Given the description of an element on the screen output the (x, y) to click on. 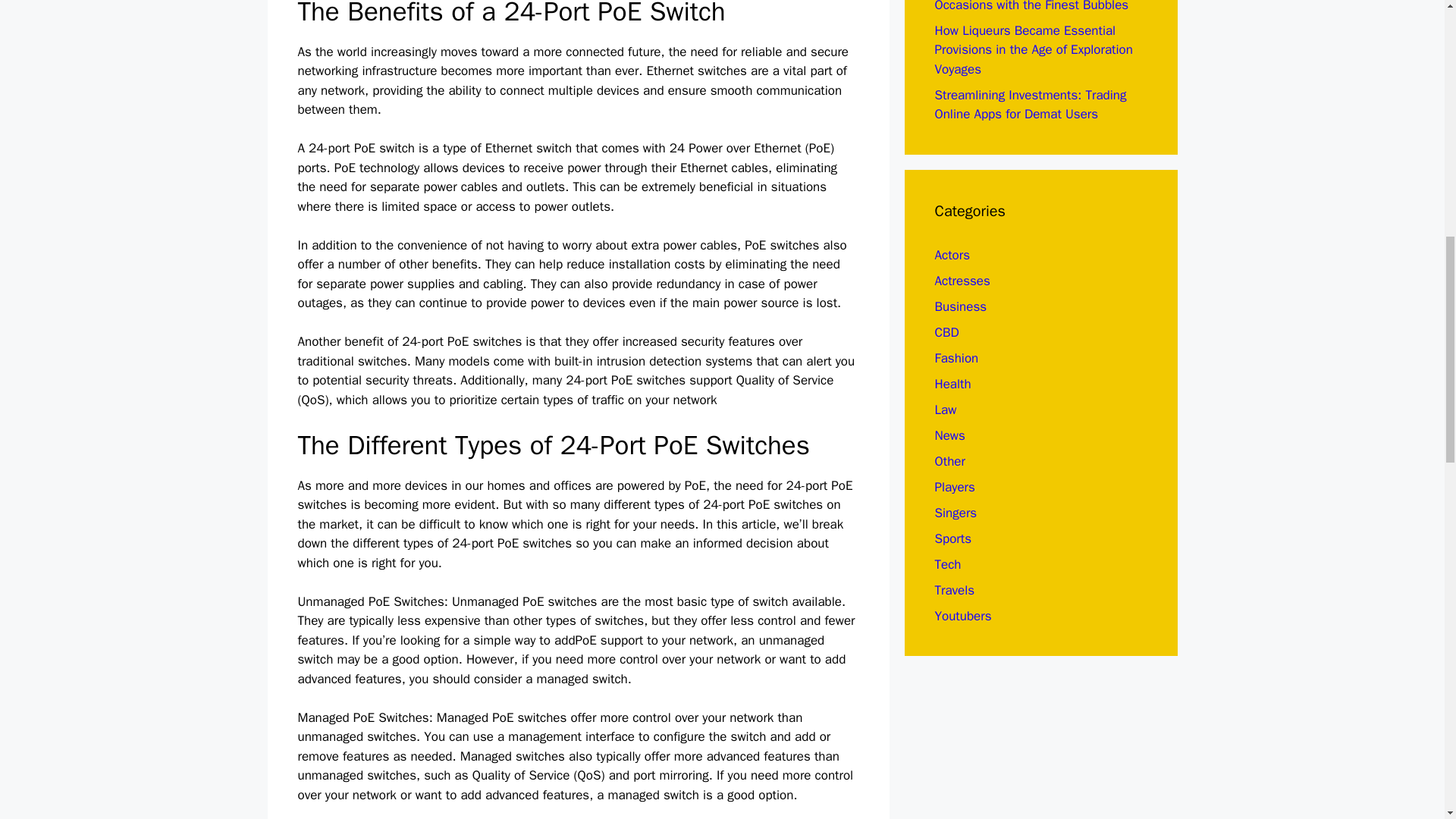
Actors (951, 254)
Actresses (962, 280)
Business (960, 306)
CBD (946, 332)
Health (952, 383)
Fashion (956, 358)
Scroll back to top (1406, 720)
